Given the description of an element on the screen output the (x, y) to click on. 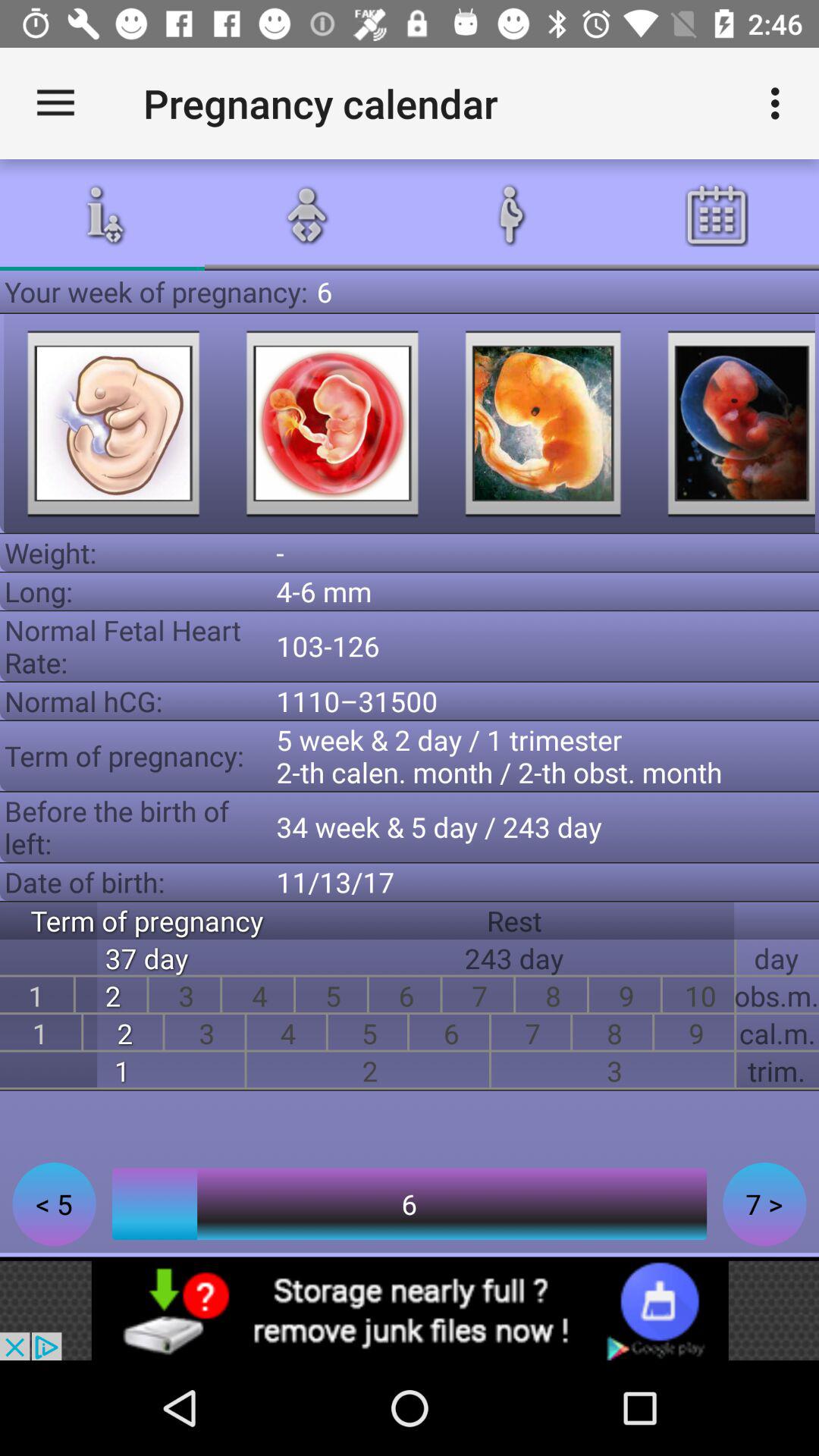
advatisment (409, 1310)
